Given the description of an element on the screen output the (x, y) to click on. 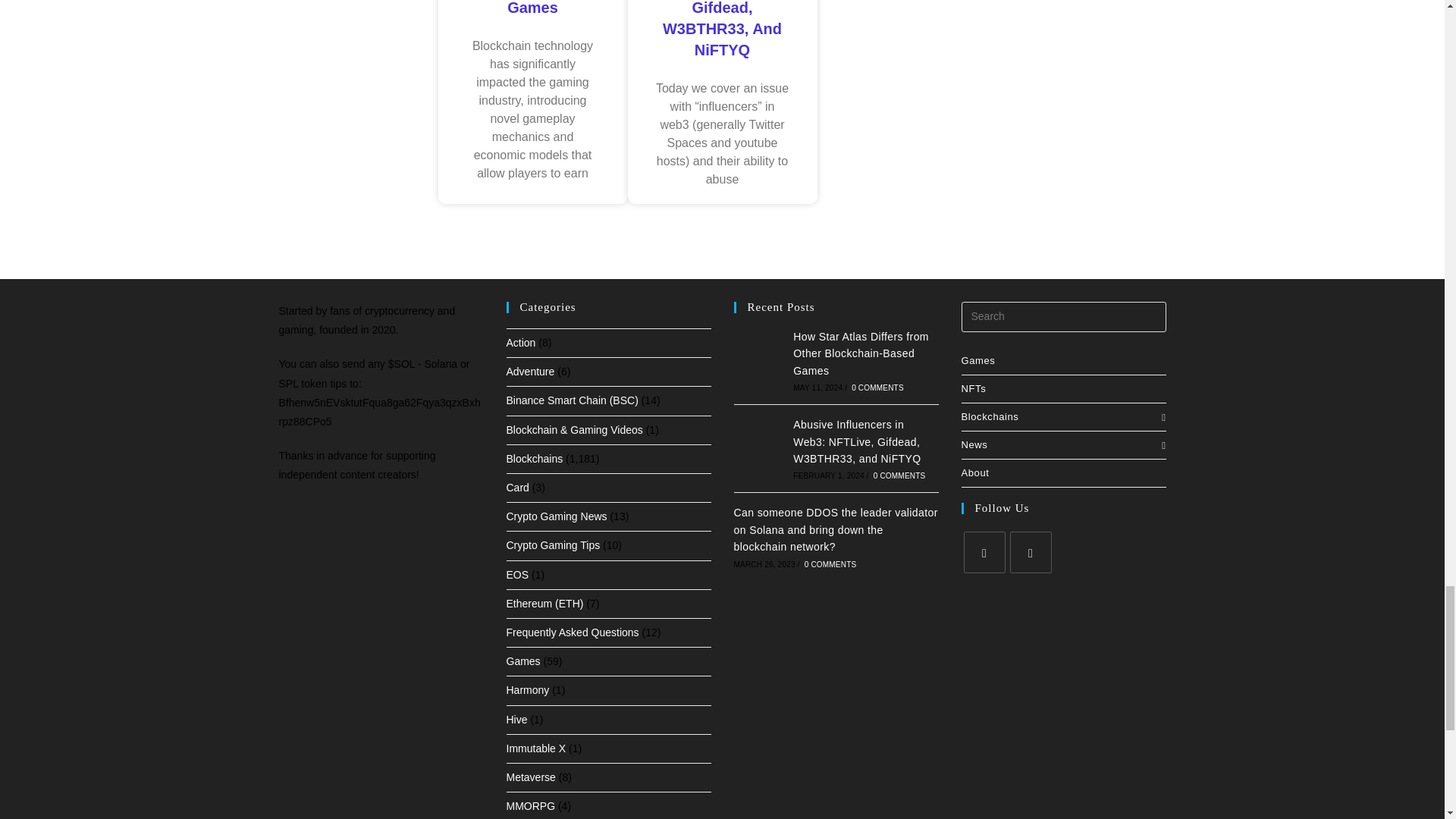
How Star Atlas Differs from Other Blockchain-Based Games (759, 360)
